Given the description of an element on the screen output the (x, y) to click on. 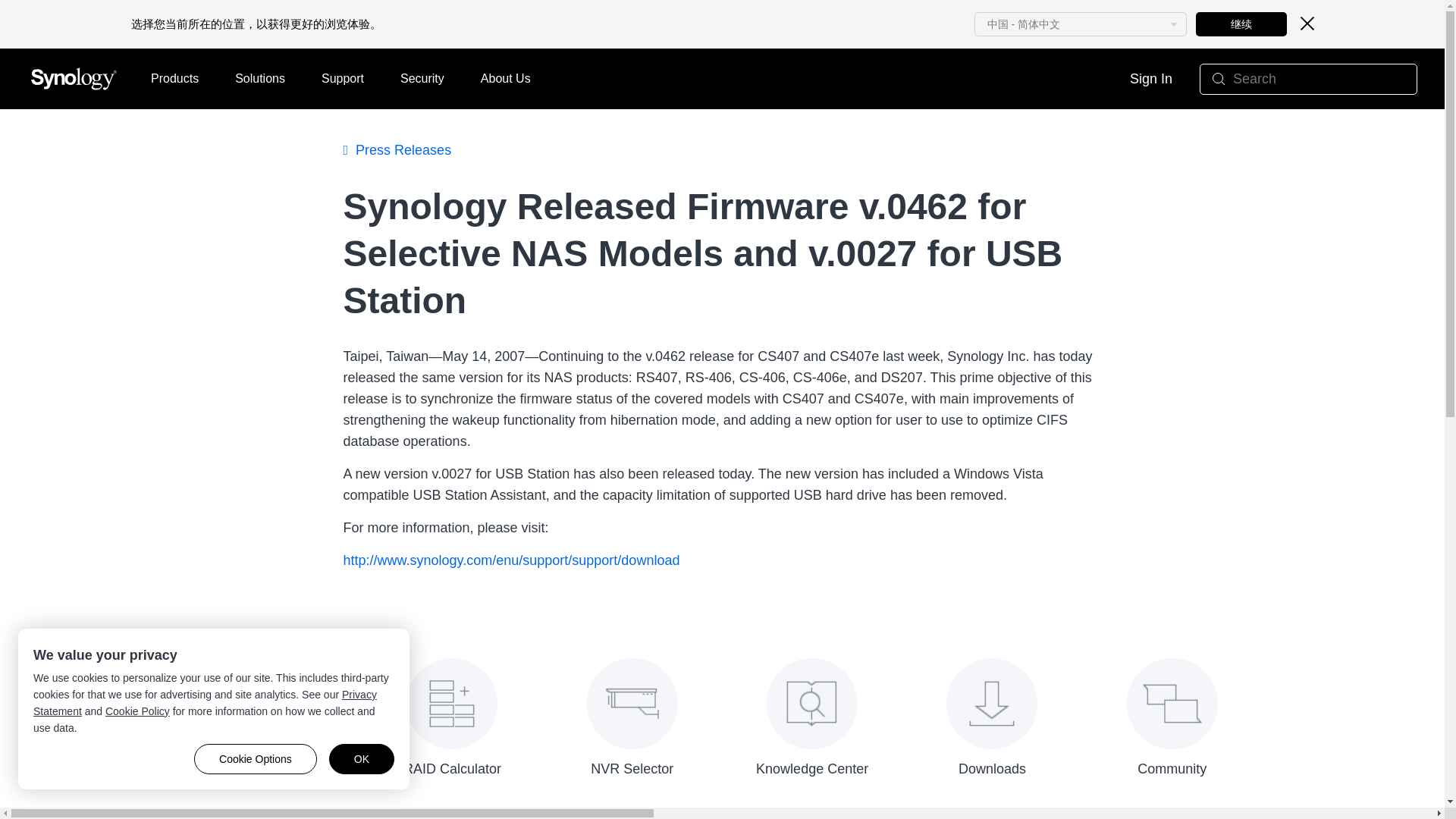
Products (174, 78)
Privacy Statement (205, 702)
Cookie Policy (137, 711)
Continue (1240, 24)
